Given the description of an element on the screen output the (x, y) to click on. 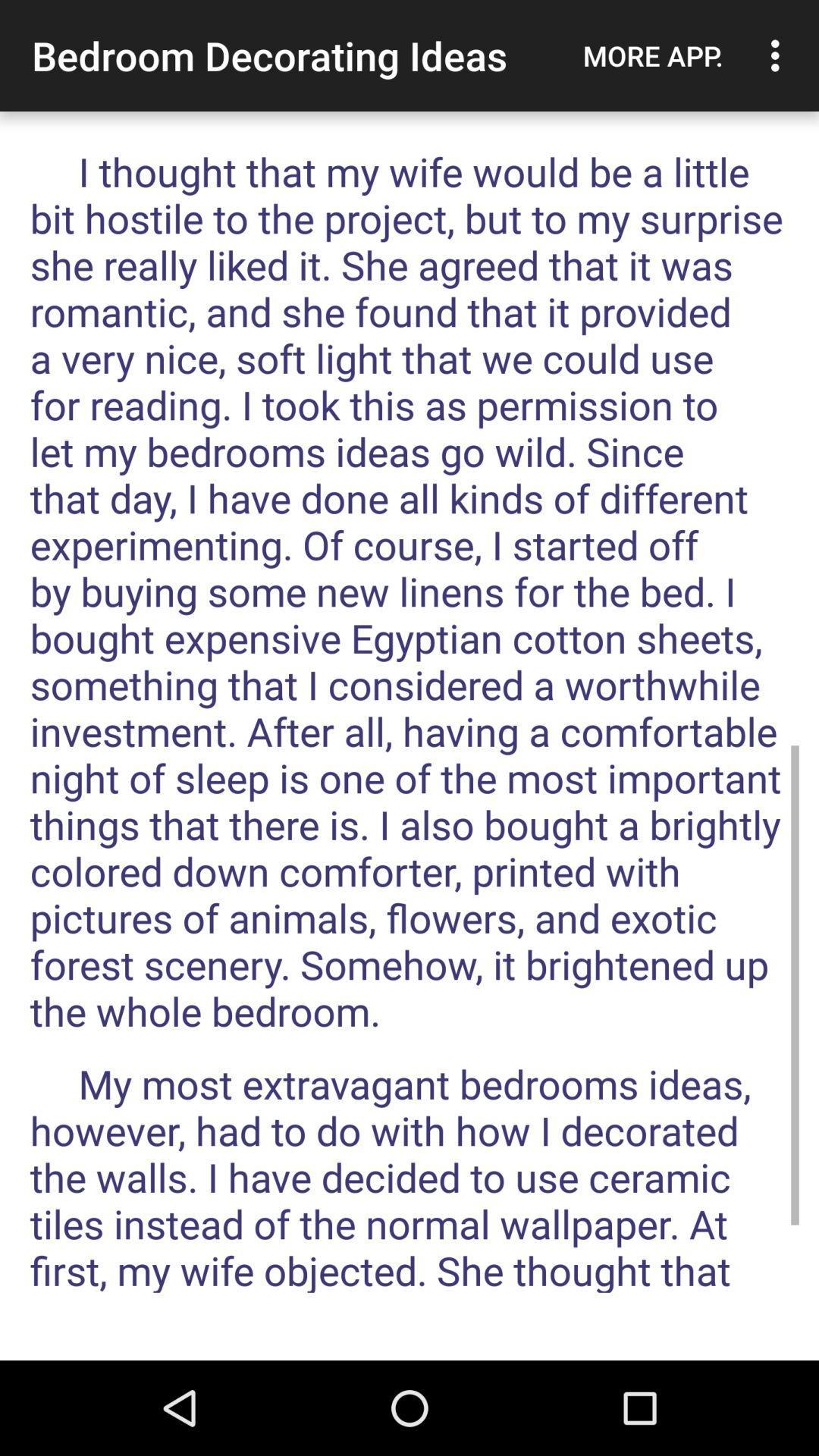
tap the icon next to the more app. (779, 55)
